Given the description of an element on the screen output the (x, y) to click on. 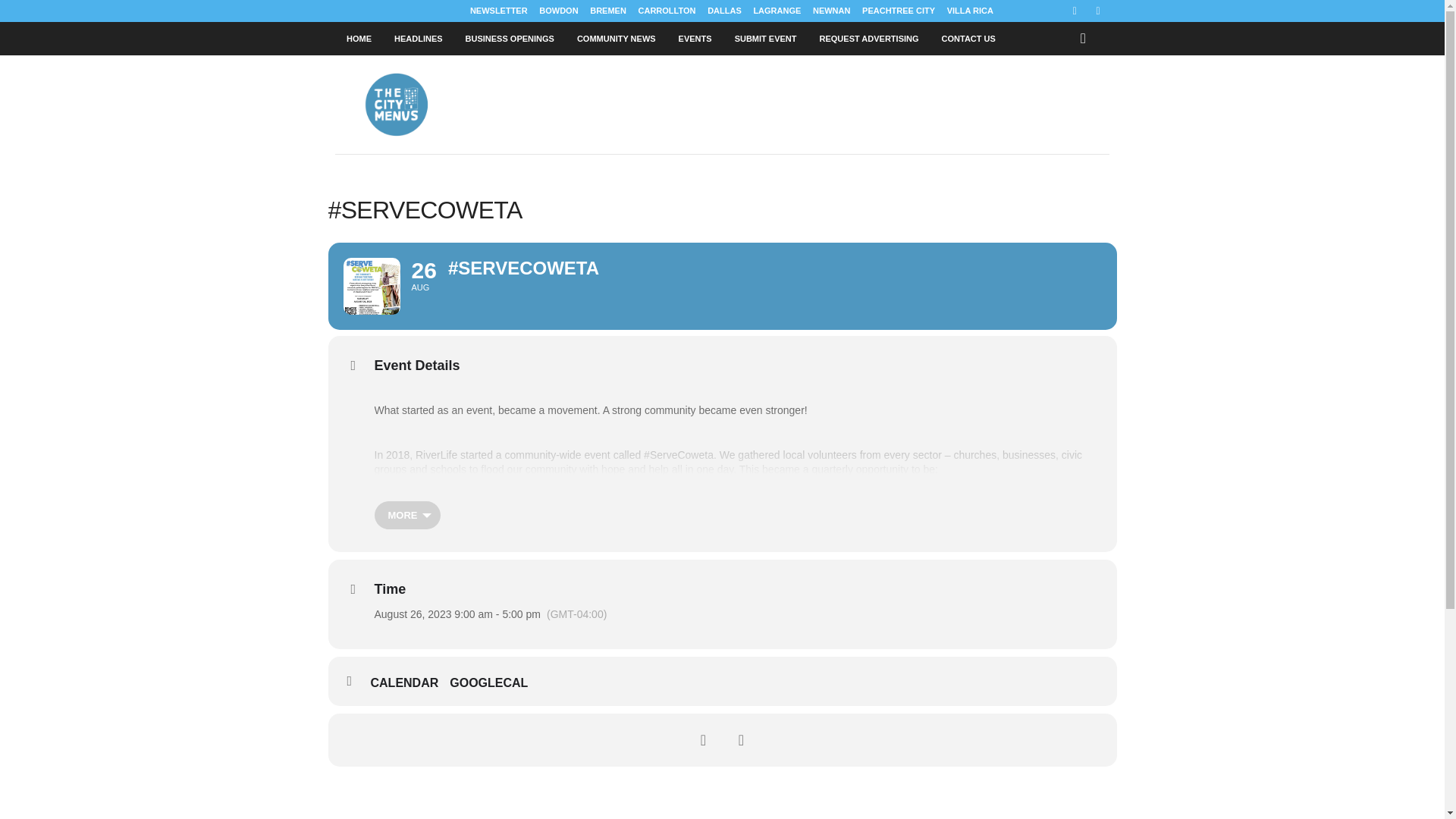
LAGRANGE (776, 10)
NEWNAN (831, 10)
COMMUNITY NEWS (616, 38)
The City Menus (437, 104)
CARROLLTON (667, 10)
BUSINESS OPENINGS (510, 38)
Add to your calendar (409, 683)
HEADLINES (418, 38)
PEACHTREE CITY (897, 10)
NEWSLETTER (498, 10)
